Given the description of an element on the screen output the (x, y) to click on. 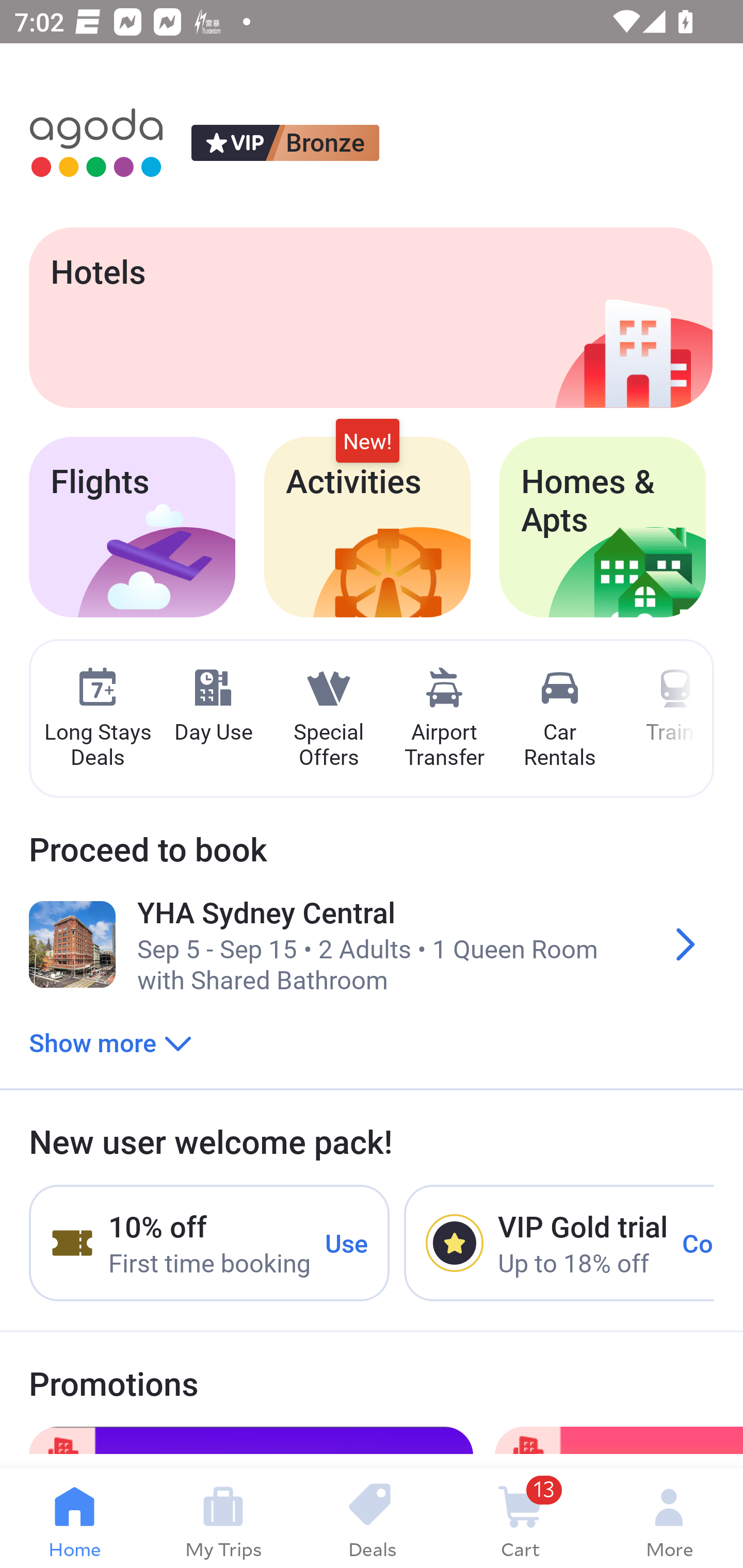
Hotels (370, 317)
New! (367, 441)
Flights (131, 527)
Activities (367, 527)
Homes & Apts (602, 527)
Day Use (213, 706)
Long Stays Deals (97, 718)
Special Offers (328, 718)
Airport Transfer (444, 718)
Car Rentals (559, 718)
Show more (110, 1041)
Use (346, 1242)
Home (74, 1518)
My Trips (222, 1518)
Deals (371, 1518)
13 Cart (519, 1518)
More (668, 1518)
